Given the description of an element on the screen output the (x, y) to click on. 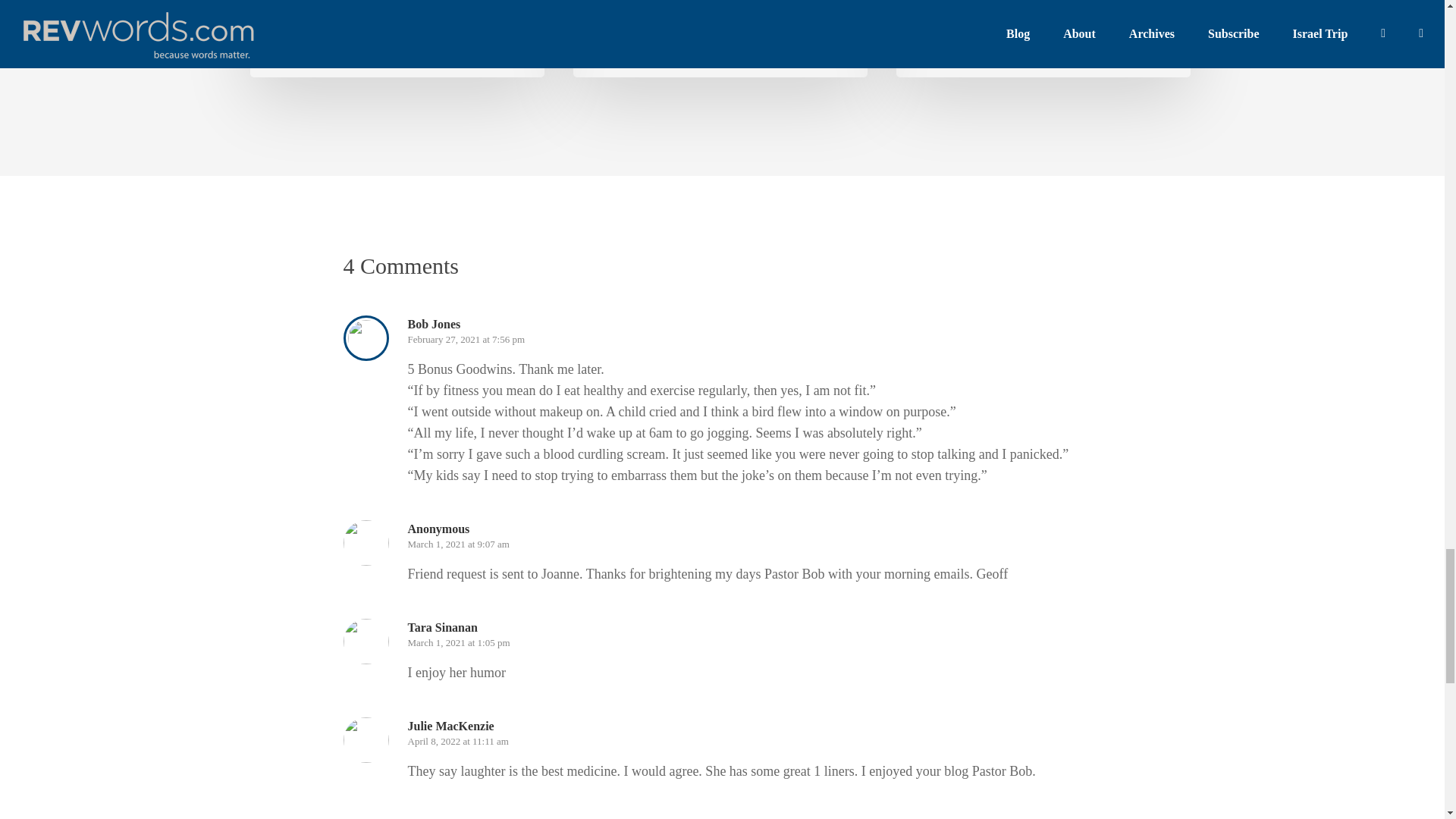
Bob Jones (656, 39)
Bob Jones (333, 39)
February 27, 2021 at 7:56 pm (466, 338)
Bob Jones (979, 39)
March 1, 2021 at 9:07 am (458, 543)
